Given the description of an element on the screen output the (x, y) to click on. 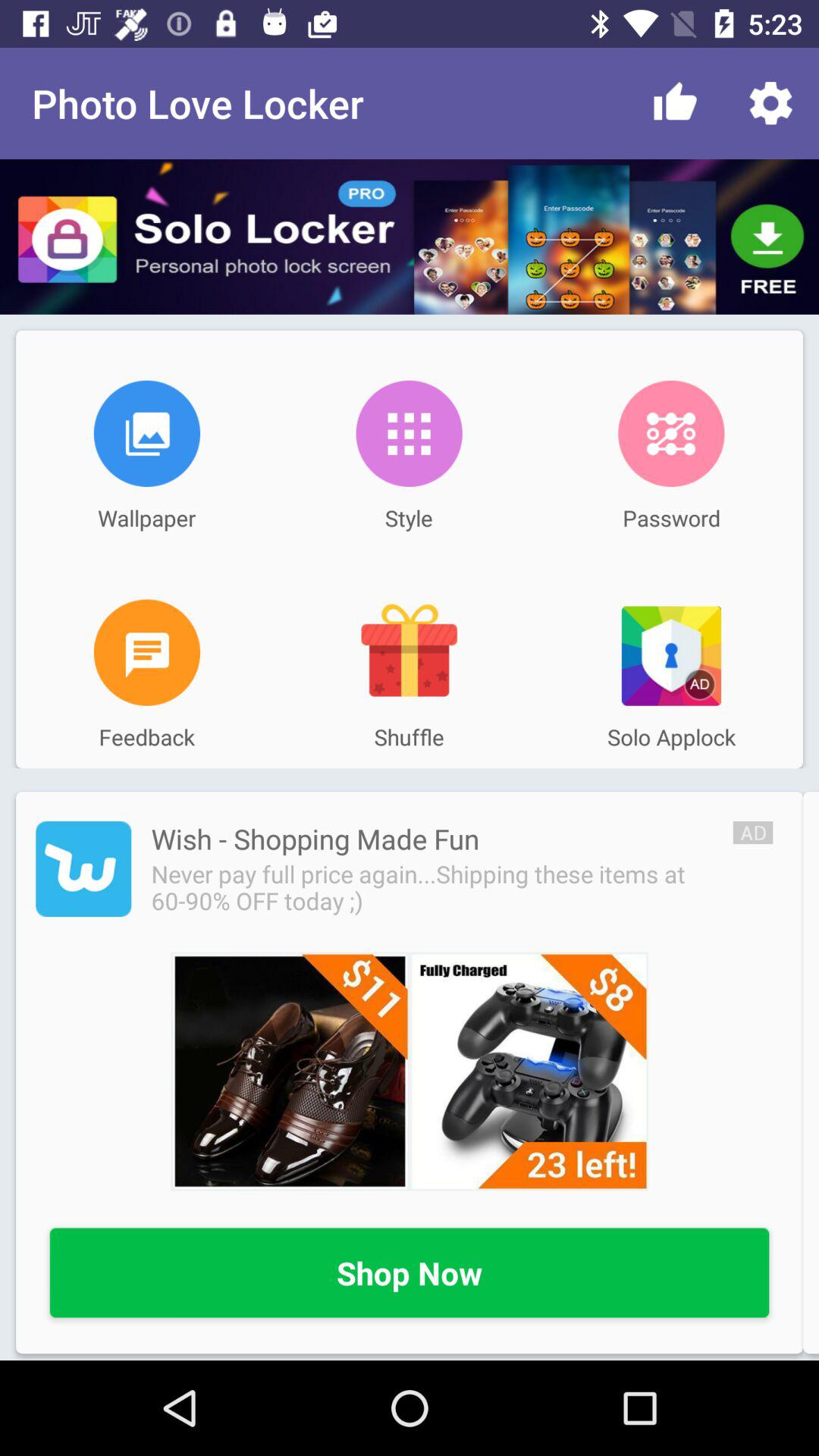
jump to shop now (409, 1274)
